Given the description of an element on the screen output the (x, y) to click on. 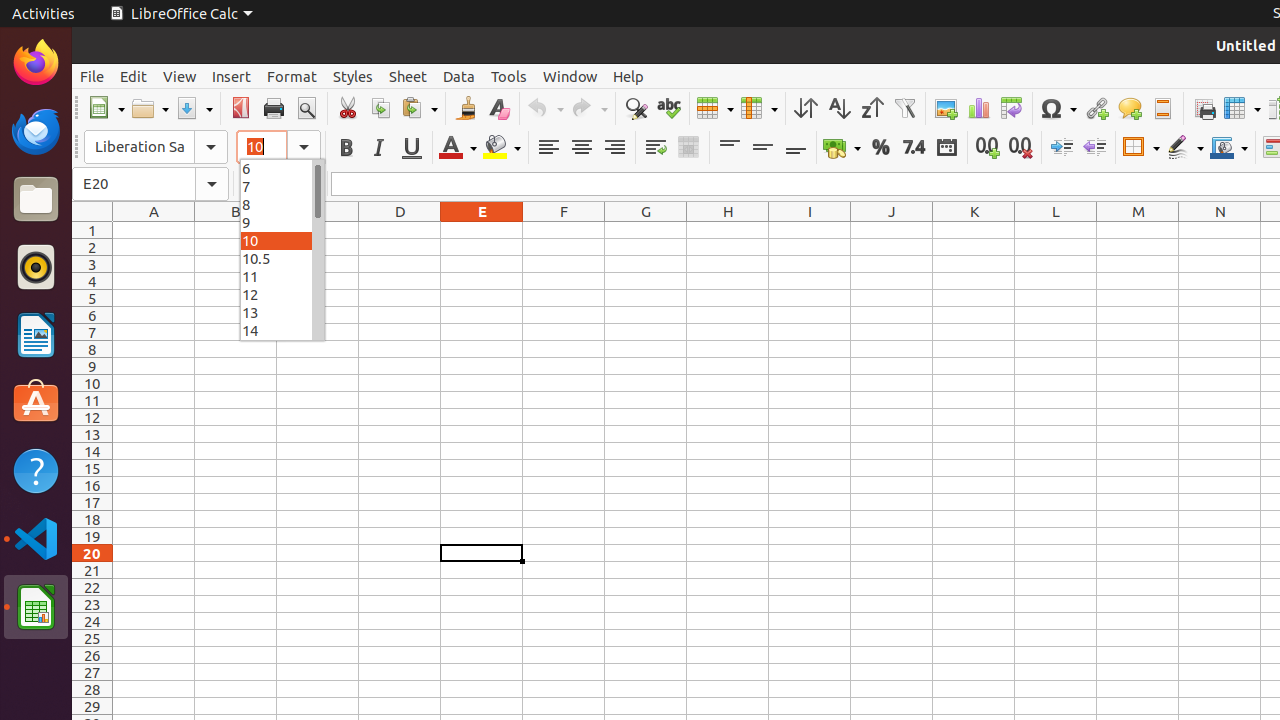
Font Name Element type: combo-box (156, 147)
Border Style Element type: push-button (1185, 147)
Italic Element type: toggle-button (378, 147)
Visual Studio Code Element type: push-button (36, 538)
Row Element type: push-button (715, 108)
